Given the description of an element on the screen output the (x, y) to click on. 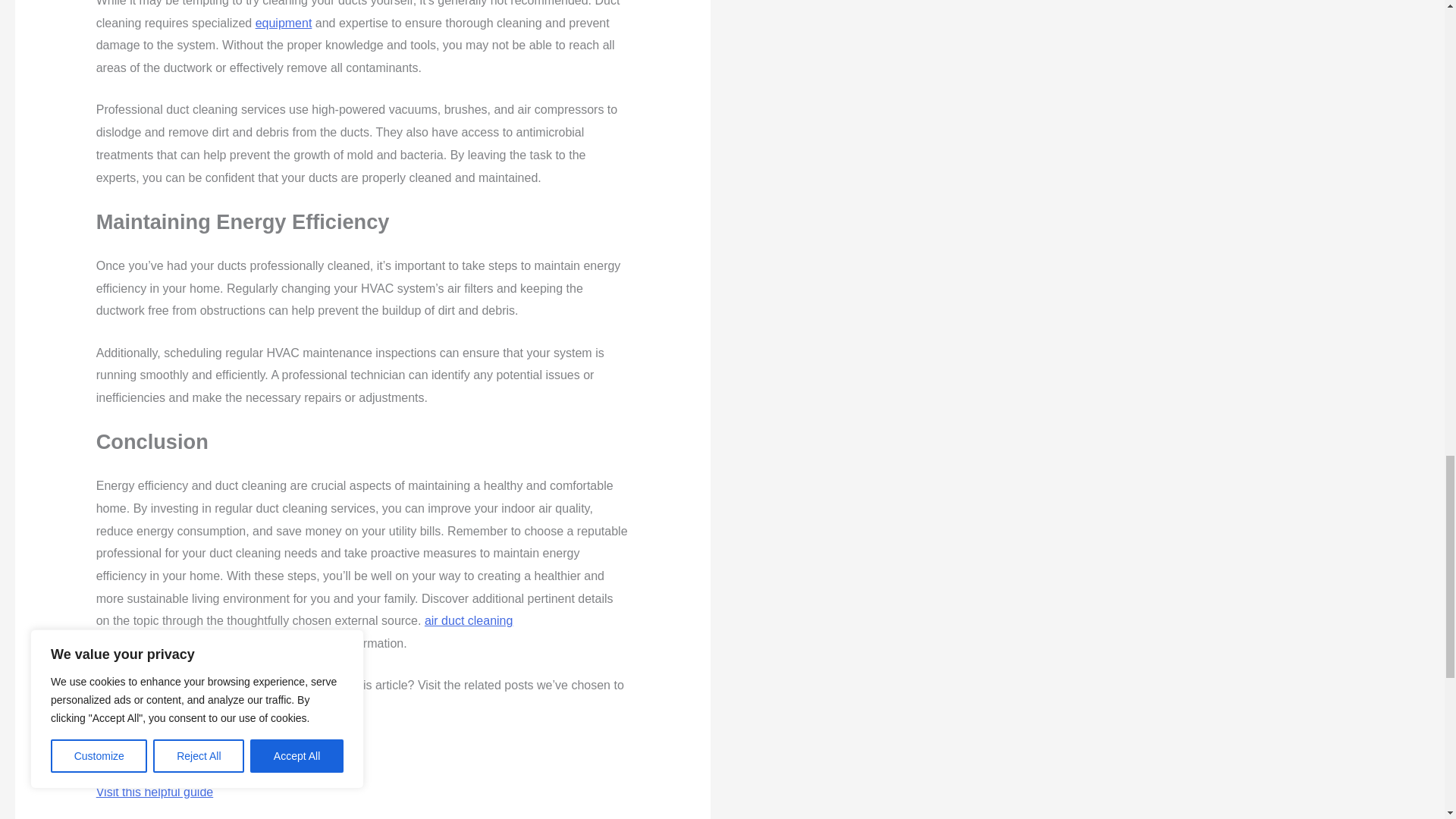
Visit this helpful guide (154, 791)
Check out this additional page (177, 748)
equipment (284, 22)
